Given the description of an element on the screen output the (x, y) to click on. 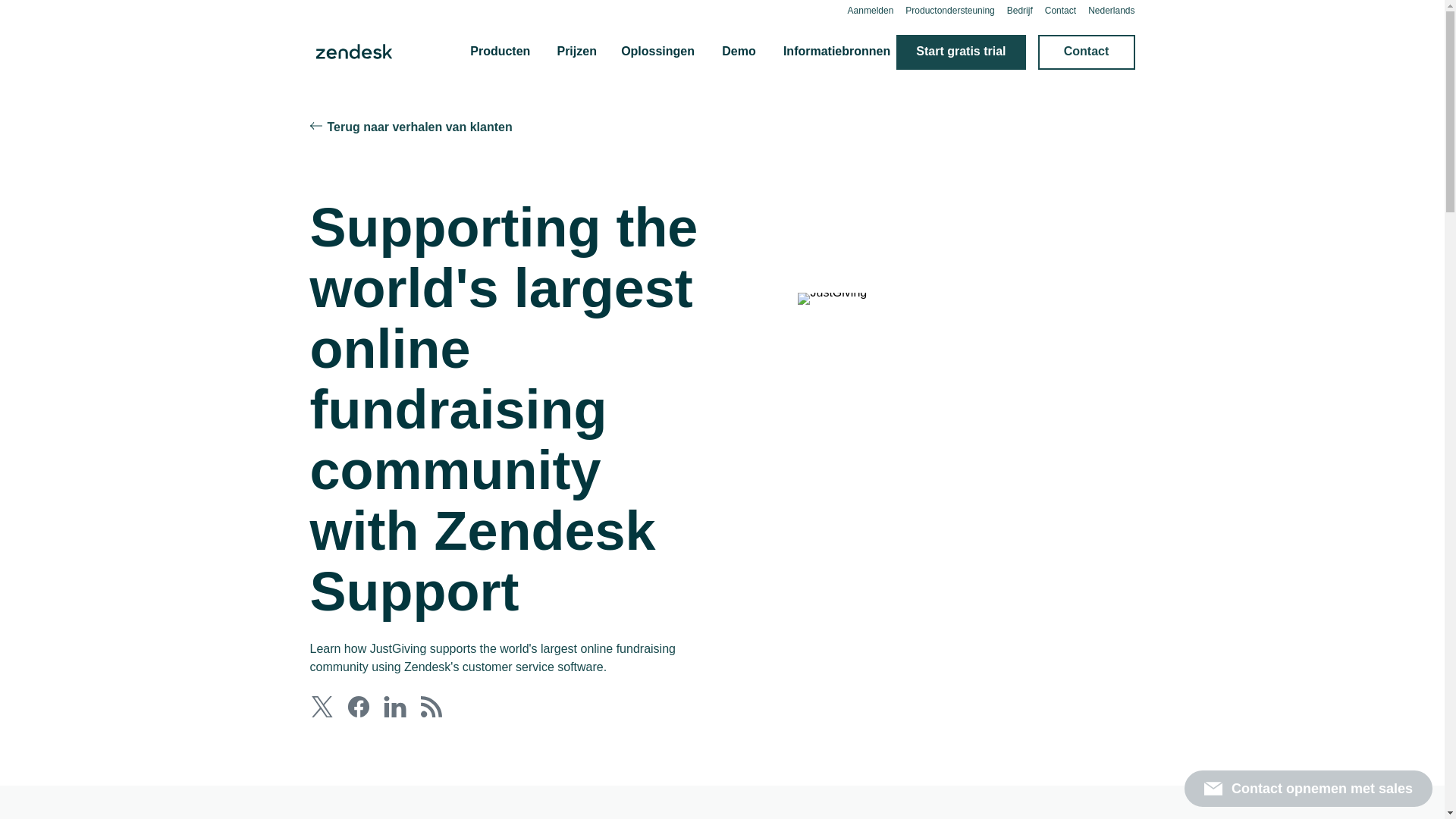
Aanmelden (870, 9)
Productondersteuning (949, 9)
Bedrijf (1019, 9)
Contact (1060, 9)
Nederlands (1110, 9)
